Given the description of an element on the screen output the (x, y) to click on. 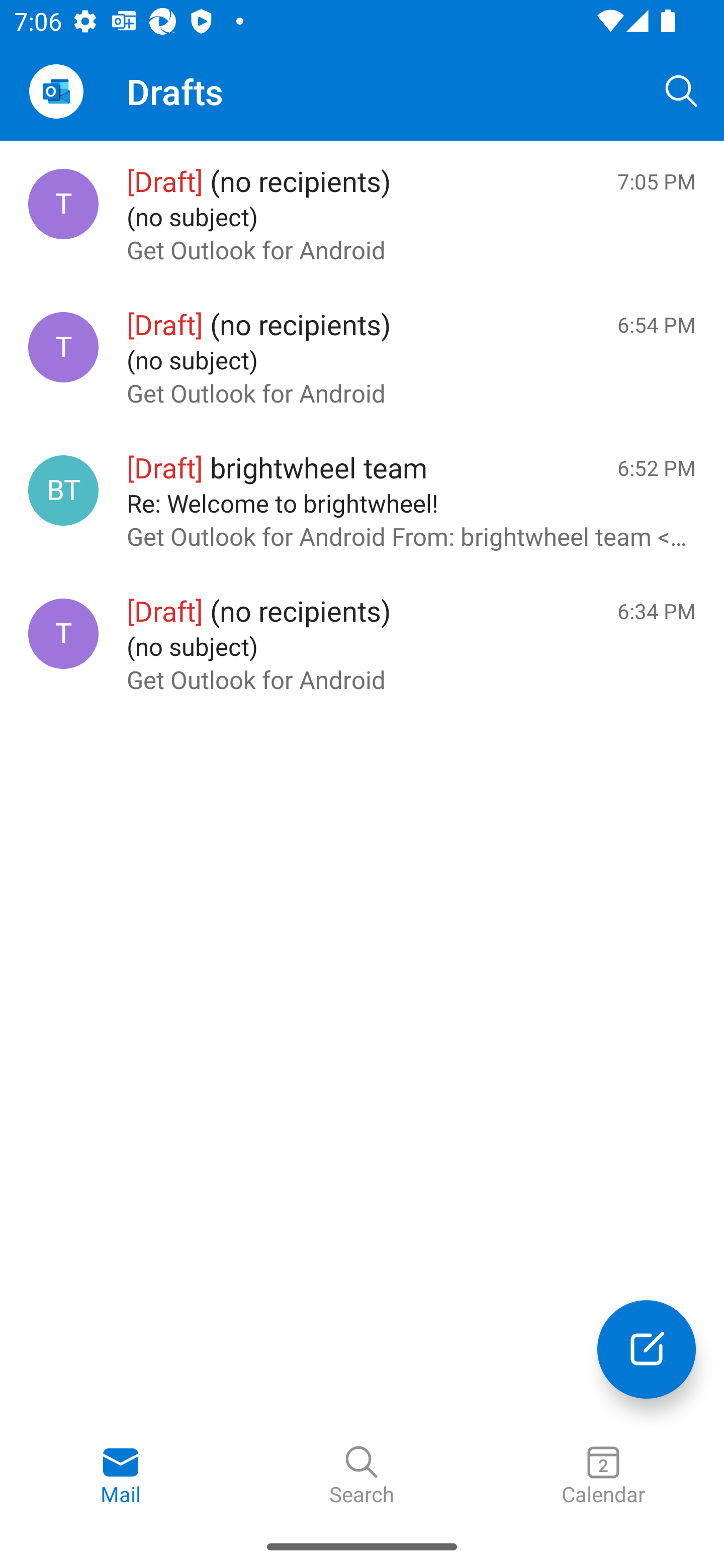
Search (681, 90)
Open Navigation Drawer (55, 91)
testappium001@outlook.com (63, 204)
testappium001@outlook.com (63, 347)
brightwheel team, testappium001@outlook.com (63, 489)
testappium001@outlook.com (63, 633)
Compose (646, 1348)
Search (361, 1475)
Calendar (603, 1475)
